Given the description of an element on the screen output the (x, y) to click on. 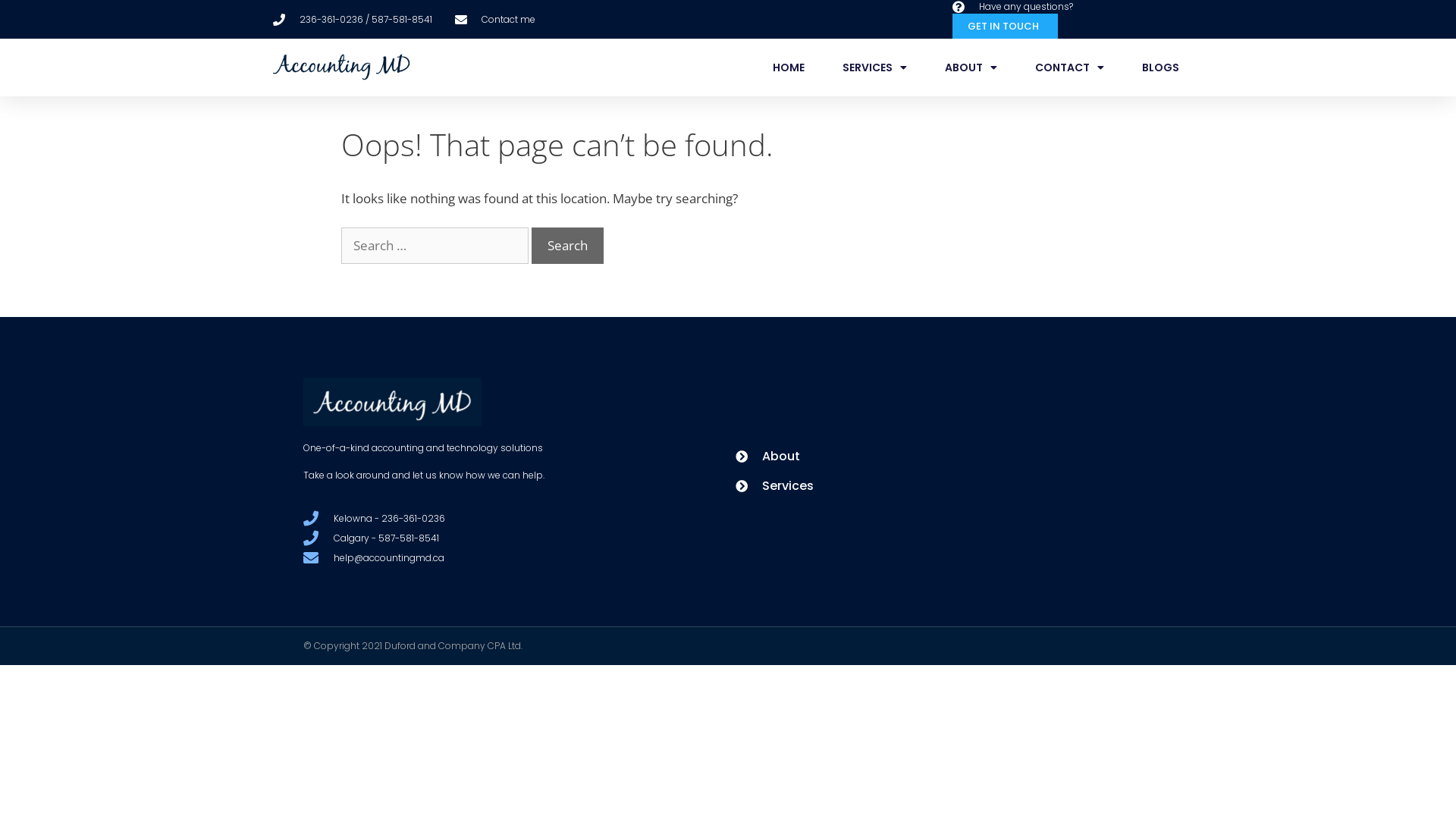
Search for: Element type: hover (434, 245)
GET IN TOUCH Element type: text (1004, 25)
BLOGS Element type: text (1160, 67)
Contact me Element type: text (495, 18)
SERVICES Element type: text (874, 67)
CONTACT Element type: text (1069, 67)
Search Element type: text (567, 245)
help@accountingmd.ca Element type: text (481, 557)
Services Element type: text (943, 485)
Have any questions? Element type: text (1012, 6)
ABOUT Element type: text (970, 67)
HOME Element type: text (788, 67)
Kelowna - 236-361-0236 Element type: text (481, 518)
About Element type: text (943, 456)
